Given the description of an element on the screen output the (x, y) to click on. 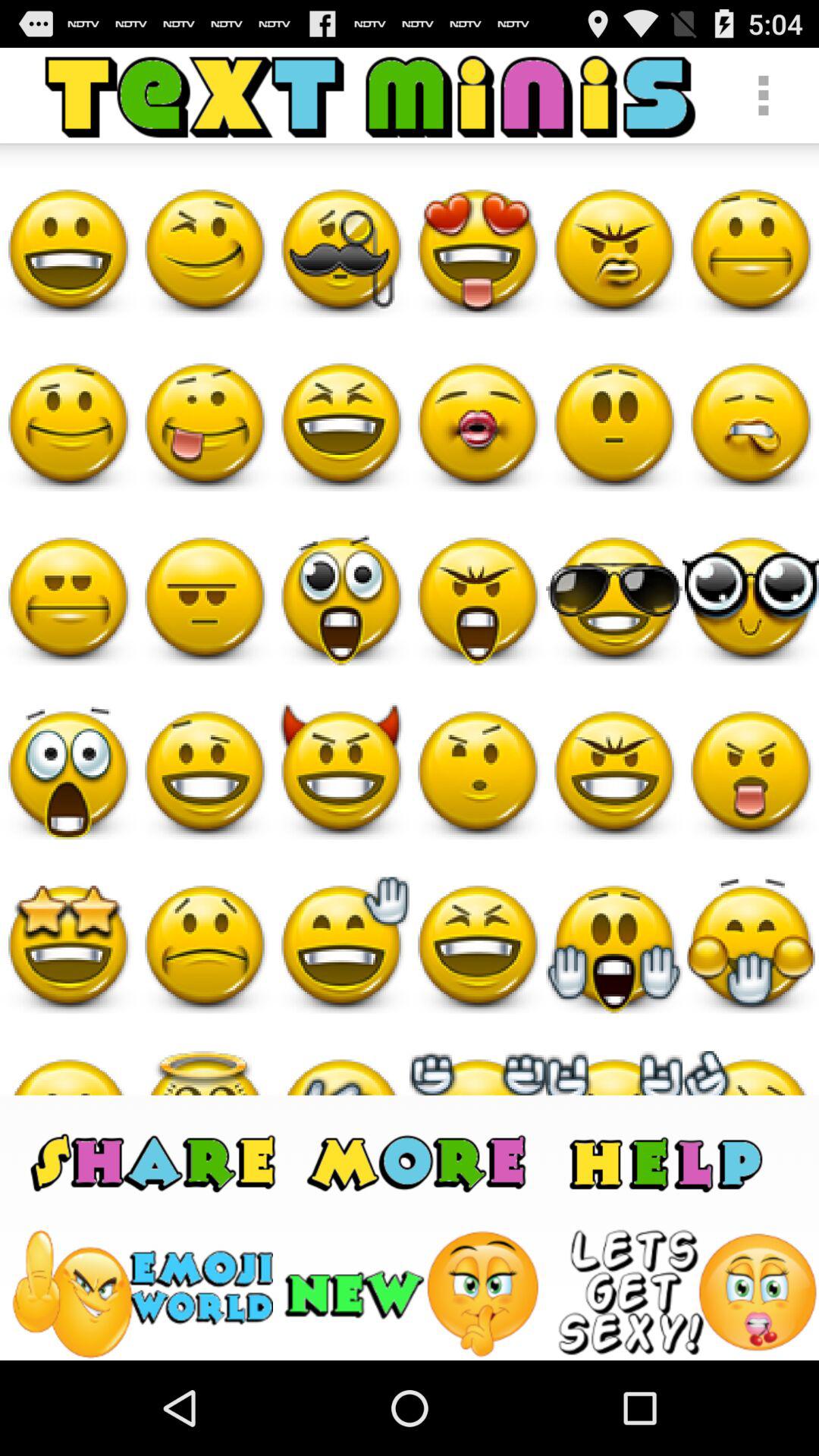
select new emojis (414, 1293)
